Given the description of an element on the screen output the (x, y) to click on. 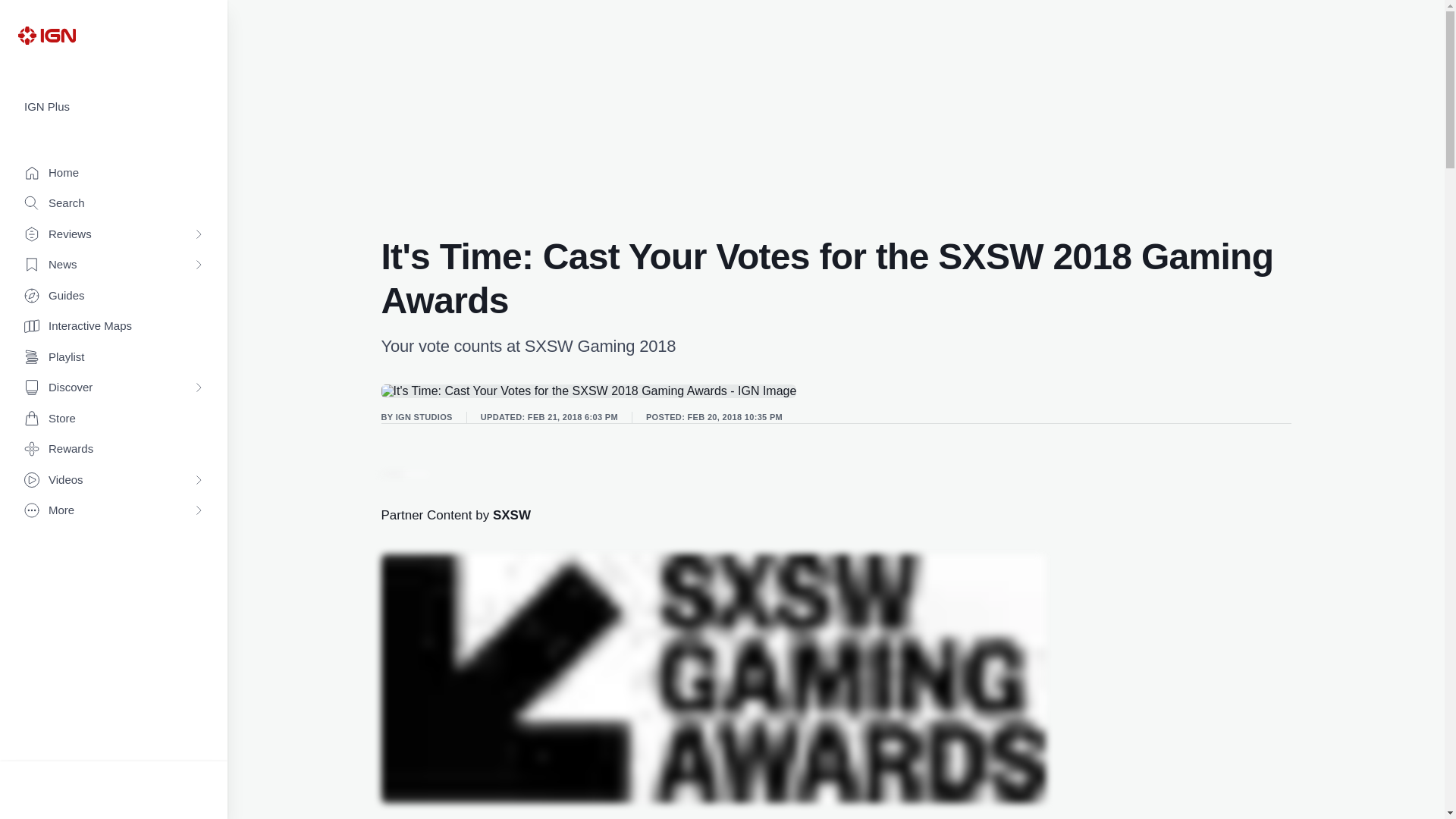
IGN Plus (113, 107)
IGN Logo (46, 35)
Discover (113, 387)
More (113, 510)
Interactive Maps (113, 326)
News (113, 265)
IGN Logo (46, 34)
Reviews (113, 234)
Playlist (113, 357)
More (113, 510)
Videos (113, 480)
Playlist (113, 357)
Videos (113, 480)
Discover (113, 387)
Home (113, 172)
